Given the description of an element on the screen output the (x, y) to click on. 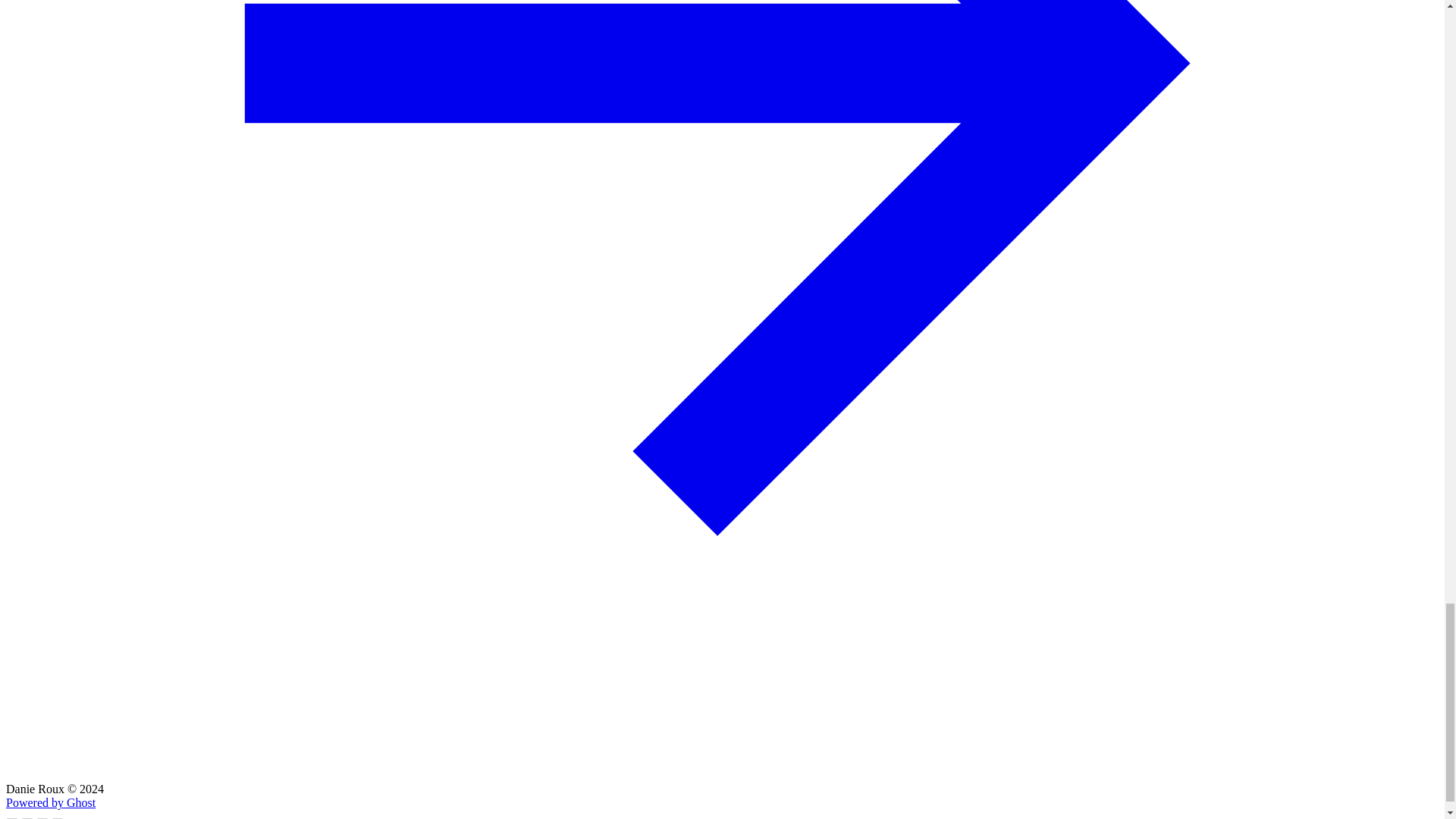
Powered by Ghost (50, 802)
